Given the description of an element on the screen output the (x, y) to click on. 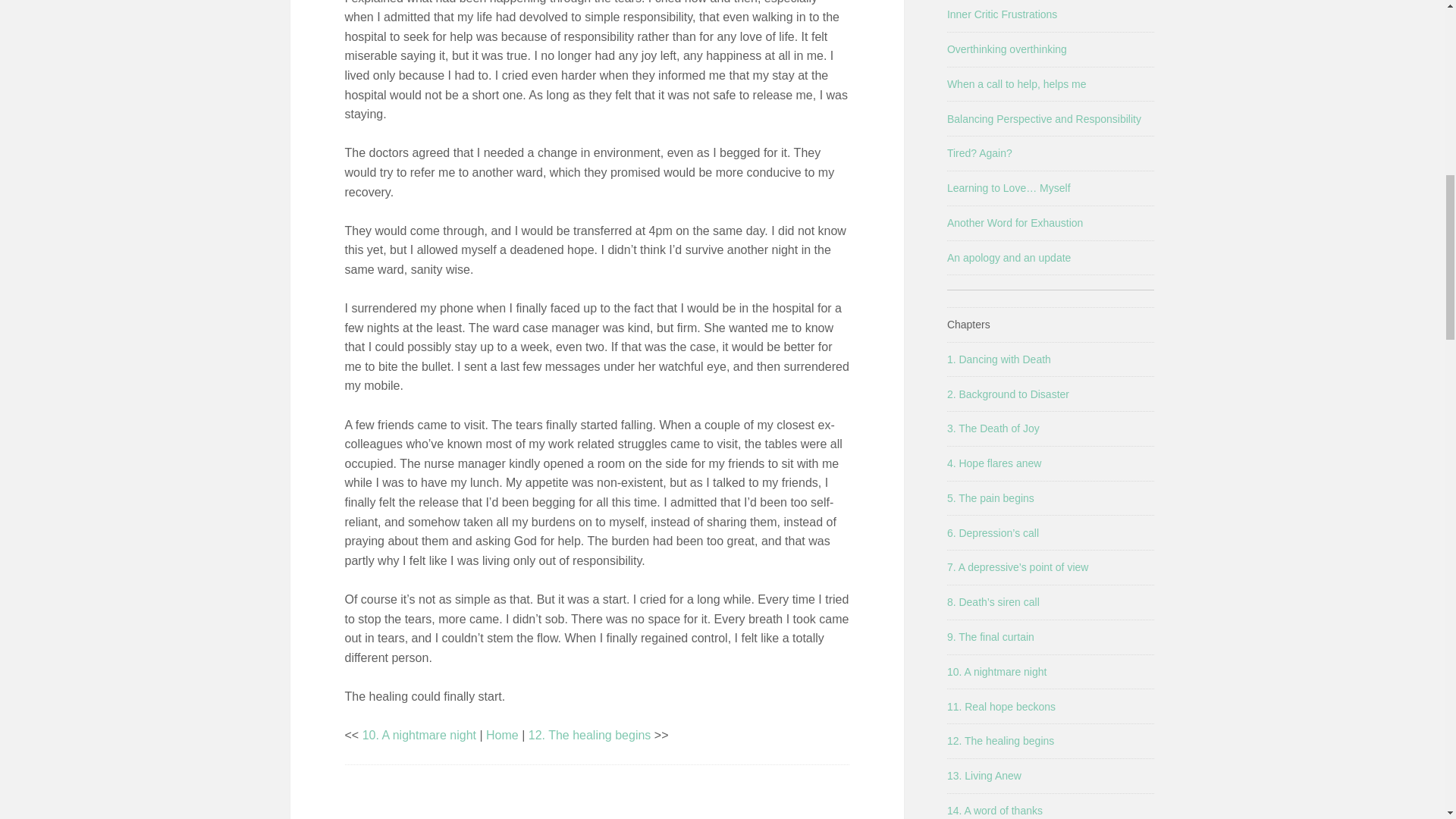
Balancing Perspective and Responsibility (1044, 119)
Home (502, 735)
Overthinking overthinking (1007, 49)
Inner Critic Frustrations (1002, 14)
12. The healing begins (589, 735)
10. A nightmare night (419, 735)
When a call to help, helps me (1016, 83)
